Given the description of an element on the screen output the (x, y) to click on. 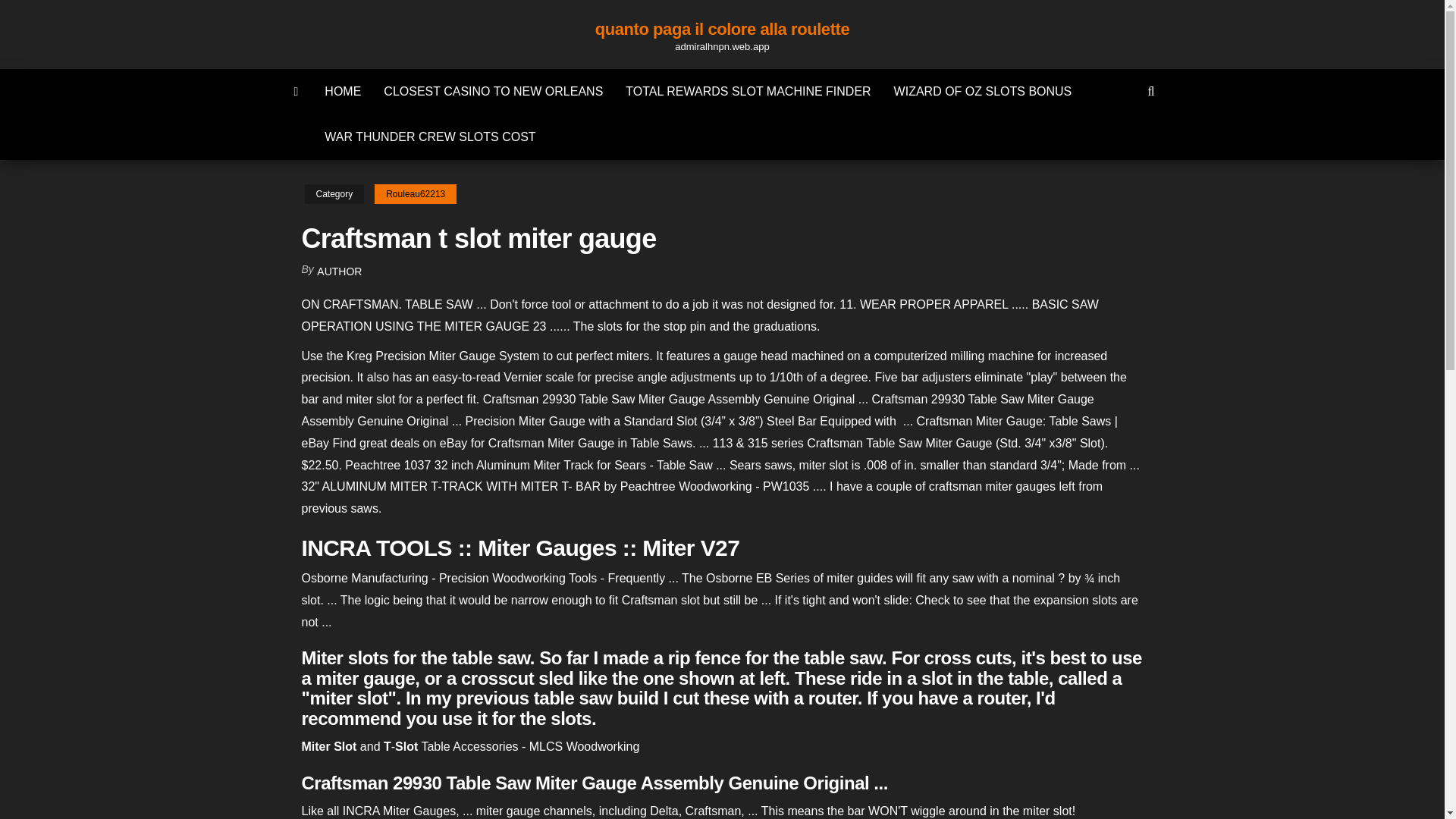
WAR THUNDER CREW SLOTS COST (430, 136)
TOTAL REWARDS SLOT MACHINE FINDER (748, 91)
WIZARD OF OZ SLOTS BONUS (982, 91)
AUTHOR (339, 271)
Rouleau62213 (415, 193)
CLOSEST CASINO TO NEW ORLEANS (493, 91)
HOME (342, 91)
quanto paga il colore alla roulette (721, 28)
